Given the description of an element on the screen output the (x, y) to click on. 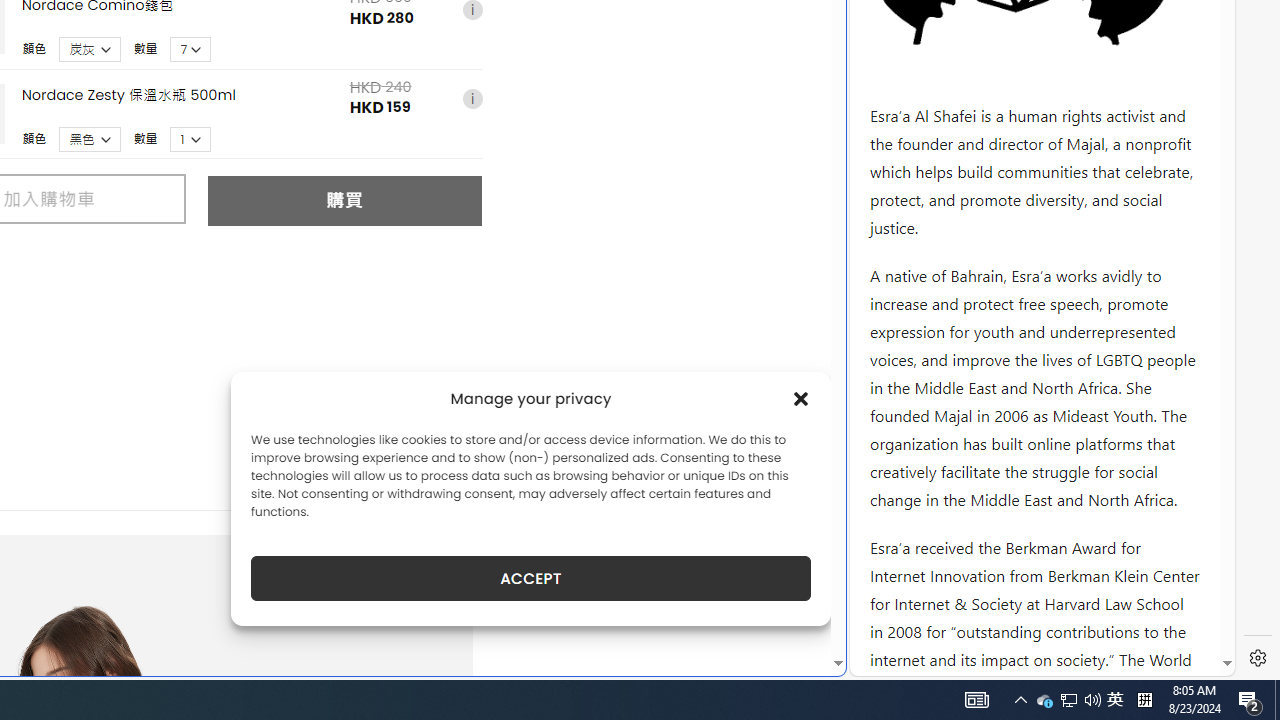
Settings (1258, 658)
